Given the description of an element on the screen output the (x, y) to click on. 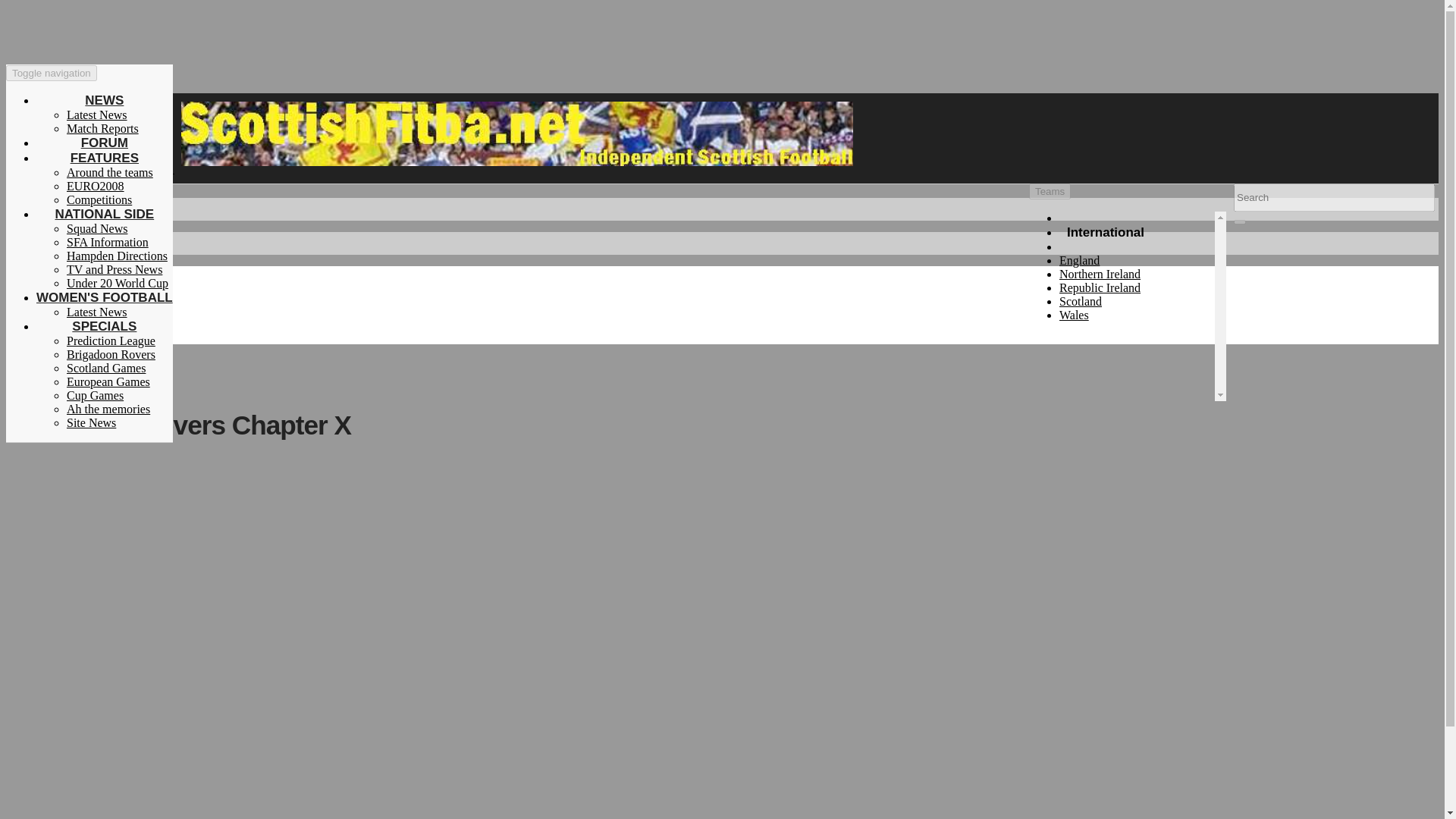
TV and Press News (113, 269)
EURO2008 (94, 185)
Site News (91, 422)
Scotland (1080, 300)
Latest News (97, 114)
Latest News (97, 114)
FORUM (104, 142)
Match Reports (102, 128)
Squad News (97, 228)
Northern Ireland (1099, 273)
